Given the description of an element on the screen output the (x, y) to click on. 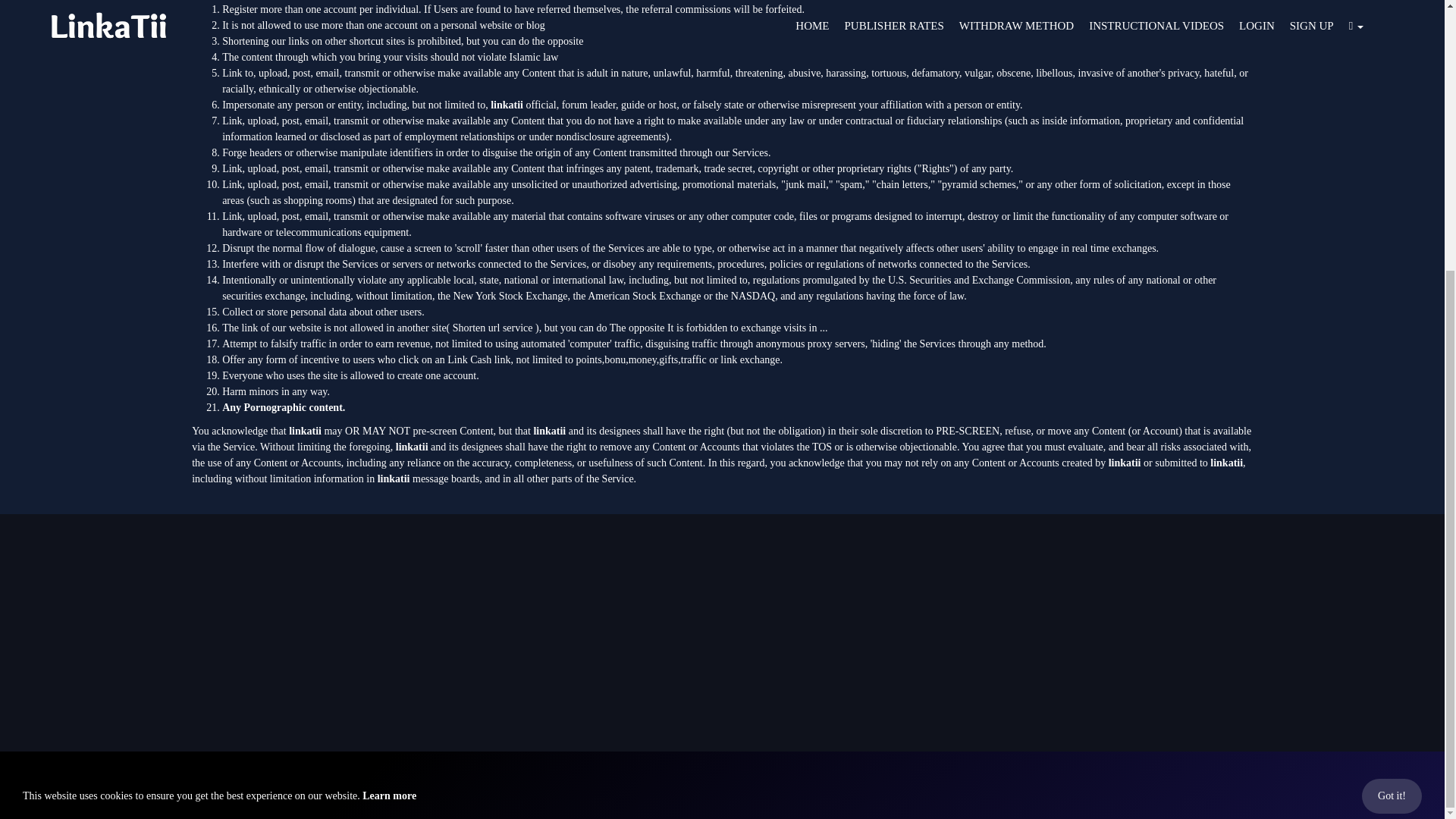
Got it! (1391, 401)
Learn more (389, 400)
